Given the description of an element on the screen output the (x, y) to click on. 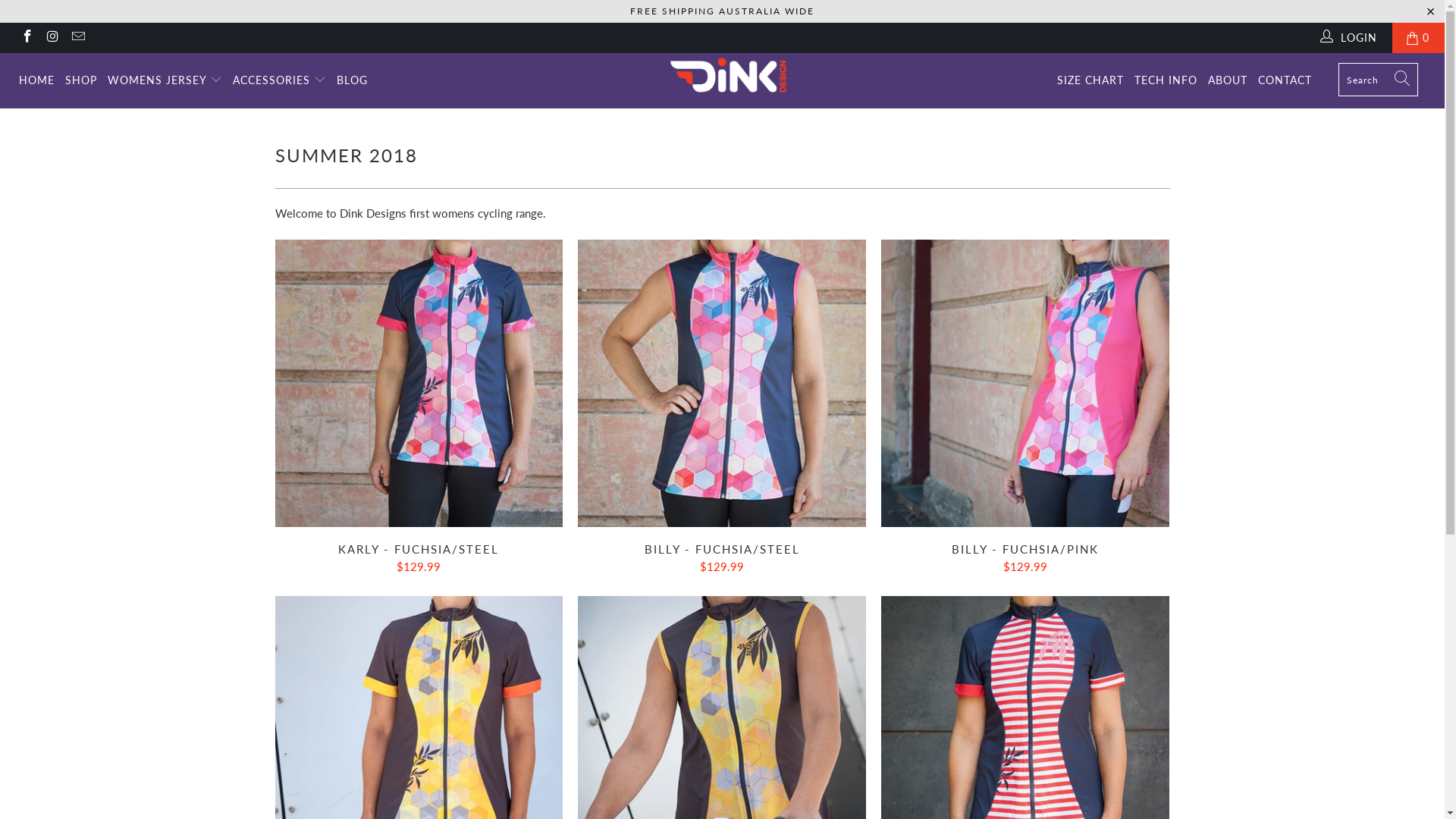
ACCESSORIES Element type: text (279, 80)
0 Element type: text (1418, 37)
Dink Design Element type: hover (729, 75)
Dink Design on Facebook Element type: hover (26, 37)
BILLY - FUCHSIA/PINK
$129.99 Element type: text (1025, 557)
BLOG Element type: text (351, 80)
WOMENS JERSEY Element type: text (164, 80)
BILLY - FUCHSIA/STEEL
$129.99 Element type: text (721, 557)
ABOUT Element type: text (1227, 80)
CONTACT Element type: text (1284, 80)
HOME Element type: text (36, 80)
Email Dink Design Element type: hover (76, 37)
KARLY - FUCHSIA/STEEL
$129.99 Element type: text (418, 557)
SIZE CHART Element type: text (1090, 80)
TECH INFO Element type: text (1165, 80)
Dink Design on Instagram Element type: hover (51, 37)
LOGIN Element type: text (1349, 37)
SHOP Element type: text (81, 80)
